Given the description of an element on the screen output the (x, y) to click on. 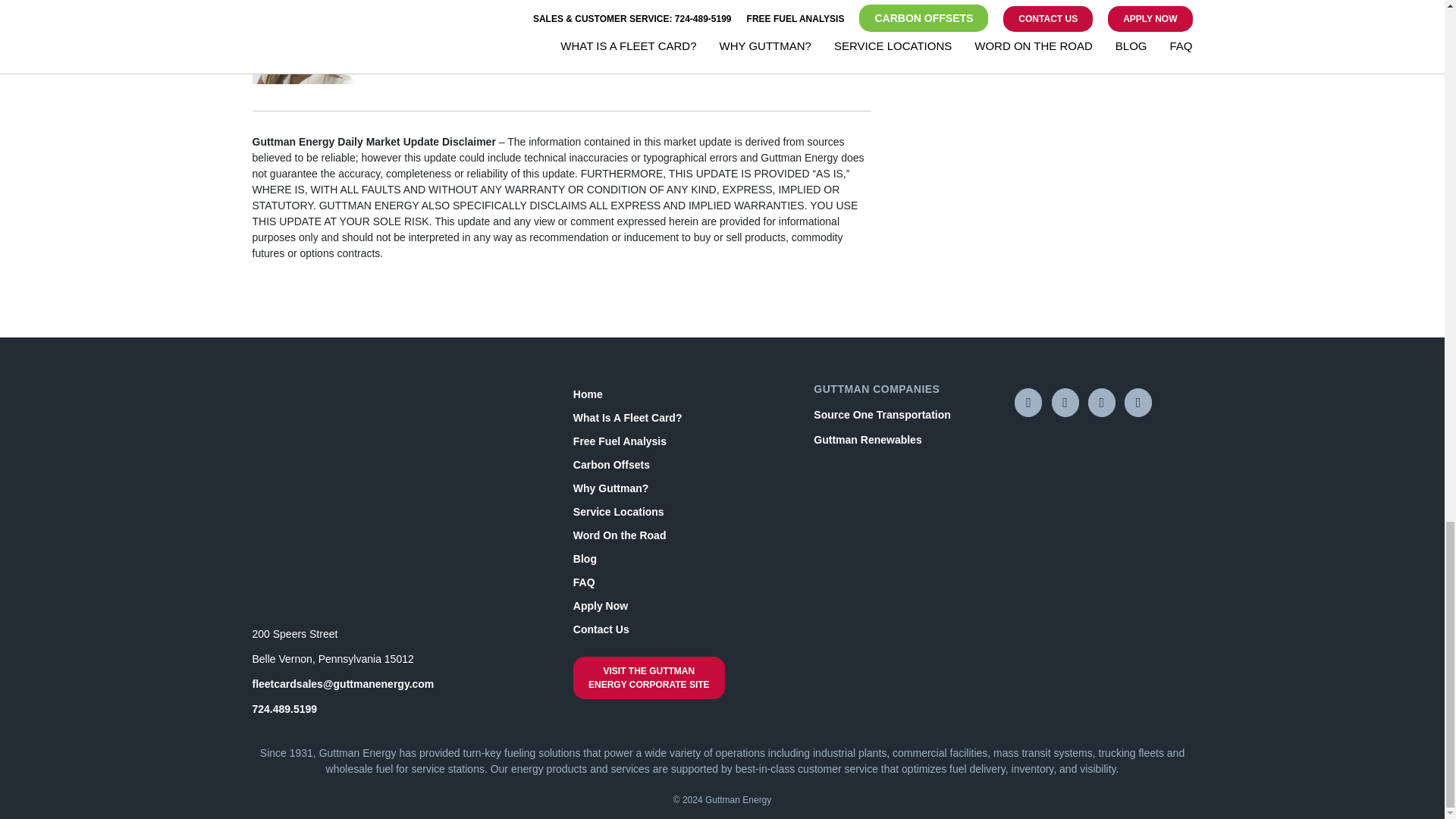
Why Guttman? (682, 488)
Home (682, 394)
Guttman Energy on X Twitter (1101, 402)
Service Locations (682, 512)
Carbon Offsets (682, 464)
Guttman Energy on Linkedin (1137, 402)
724.489.5199 (284, 708)
Word On the Road (682, 535)
Free Fuel Analysis (682, 441)
What Is A Fleet Card? (682, 417)
Guttman Energy on Facebook (1064, 402)
Guttman Energy on Youtube (1028, 402)
FAQ (682, 582)
Blog (682, 558)
